Given the description of an element on the screen output the (x, y) to click on. 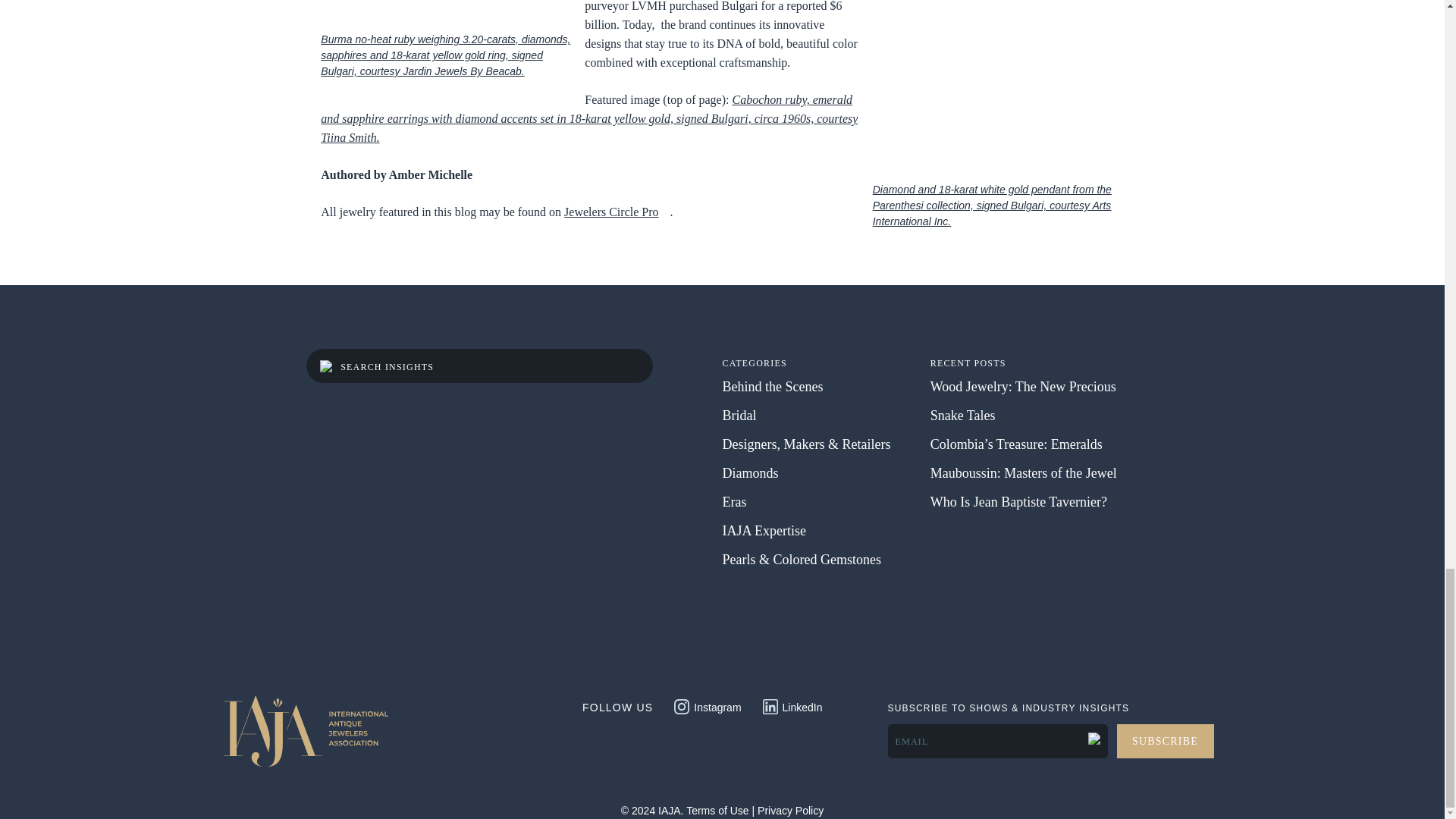
Who Is Jean Baptiste Tavernier? (1018, 501)
SUBSCRIBE (1164, 740)
Terms of Use (716, 810)
Instagram (707, 705)
Bridal (738, 415)
SUBSCRIBE (1164, 740)
IAJA Expertise (763, 530)
LinkedIn (792, 705)
